Given the description of an element on the screen output the (x, y) to click on. 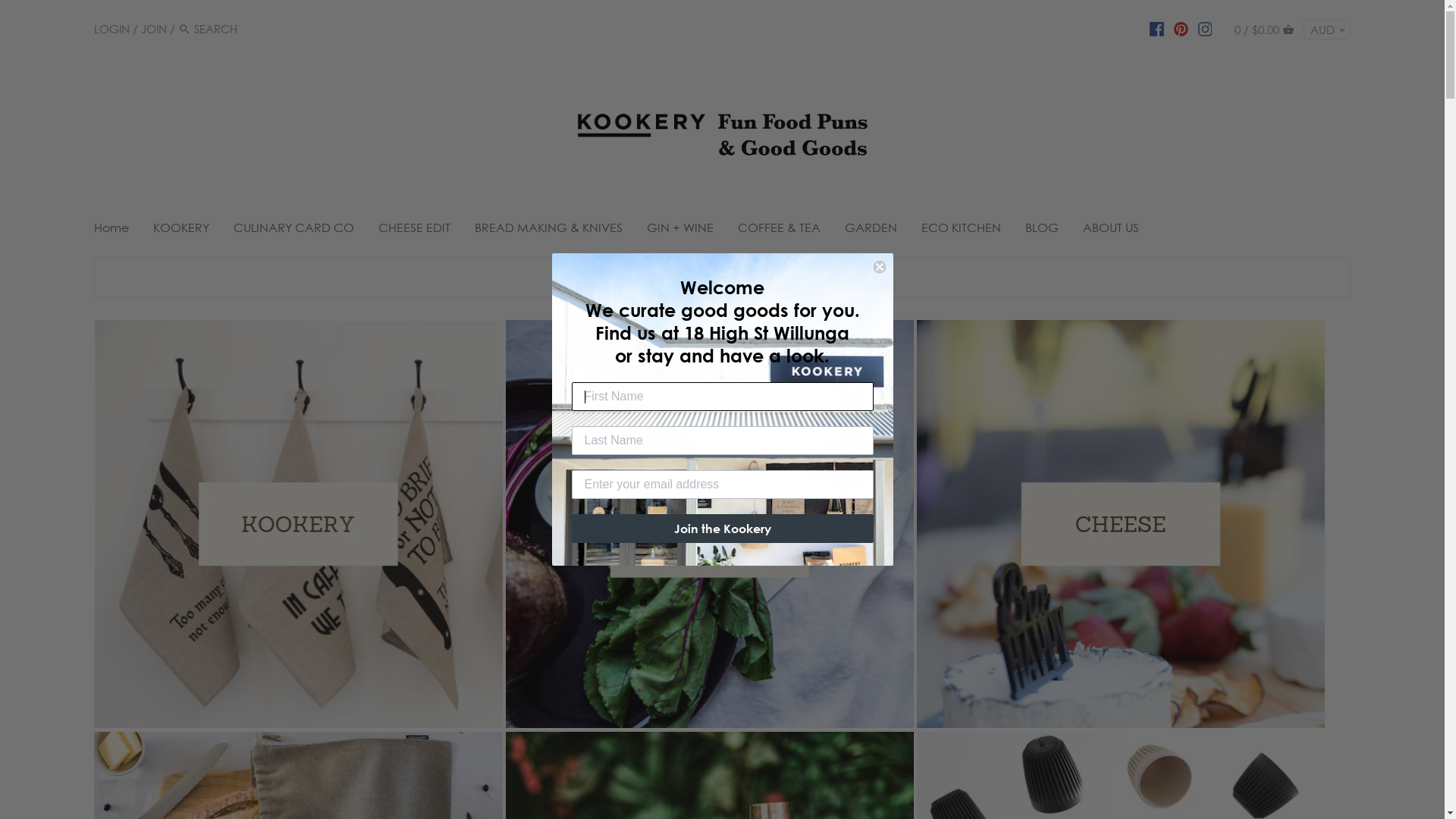
GIN + WINE Element type: text (679, 230)
PINTEREST Element type: text (1180, 27)
FACEBOOK Element type: text (1156, 27)
LOGIN Element type: text (111, 28)
BREAD MAKING & KNIVES Element type: text (548, 230)
Submit Element type: text (36, 15)
GARDEN Element type: text (870, 230)
Join the Kookery Element type: text (722, 528)
COFFEE & TEA Element type: text (778, 230)
ABOUT US Element type: text (1110, 230)
Search Element type: text (184, 29)
KOOKERY Element type: text (181, 230)
CHEESE EDIT Element type: text (414, 230)
0 / $0.00 CART Element type: text (1264, 28)
Home Element type: text (117, 230)
CULINARY CARD CO Element type: text (293, 230)
INSTAGRAM Element type: text (1205, 27)
JOIN Element type: text (153, 28)
BLOG Element type: text (1041, 230)
ECO KITCHEN Element type: text (961, 230)
